Given the description of an element on the screen output the (x, y) to click on. 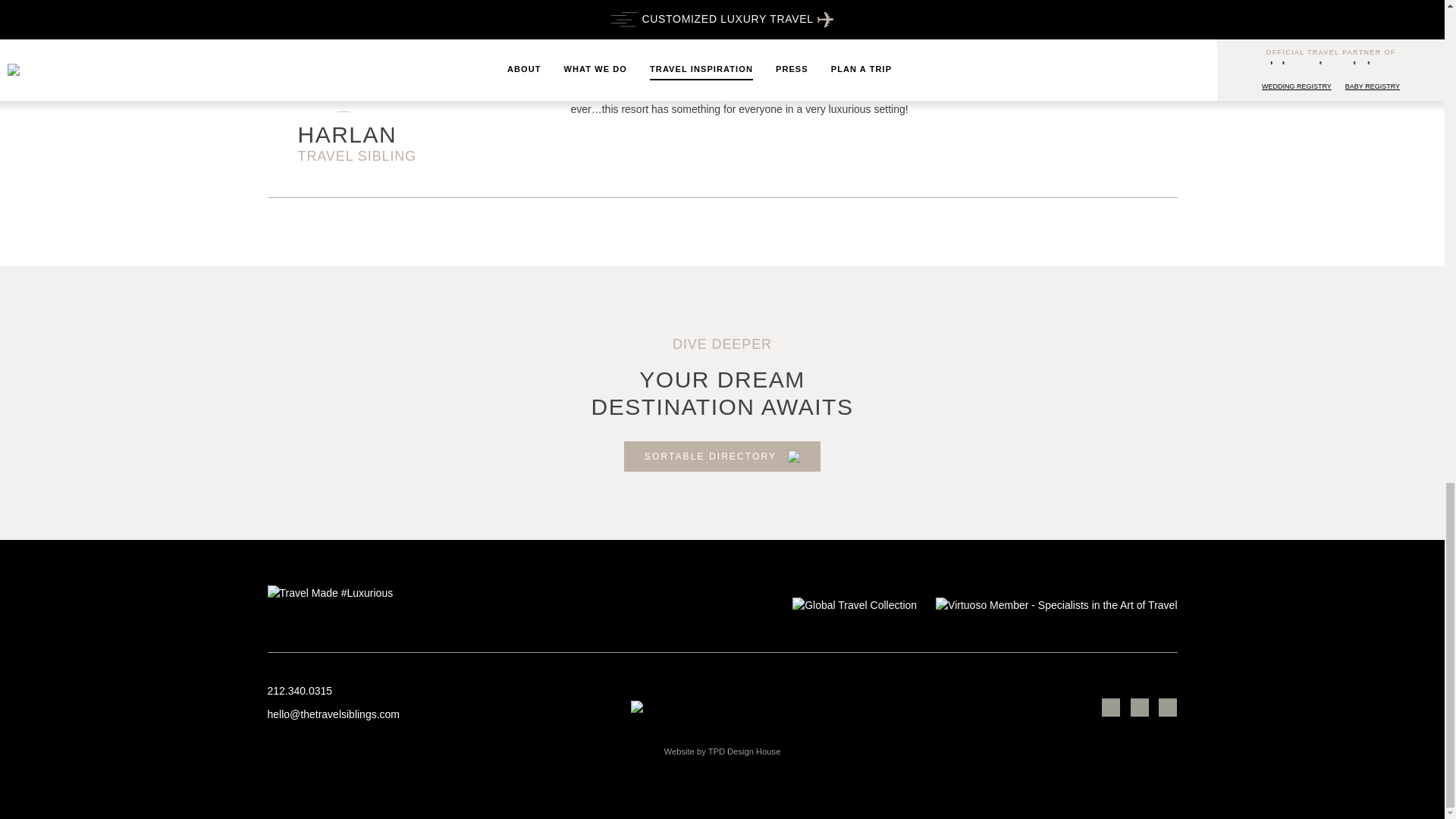
212.340.0315 (418, 691)
SORTABLE DIRECTORY (722, 456)
TPD Design House (743, 750)
